Given the description of an element on the screen output the (x, y) to click on. 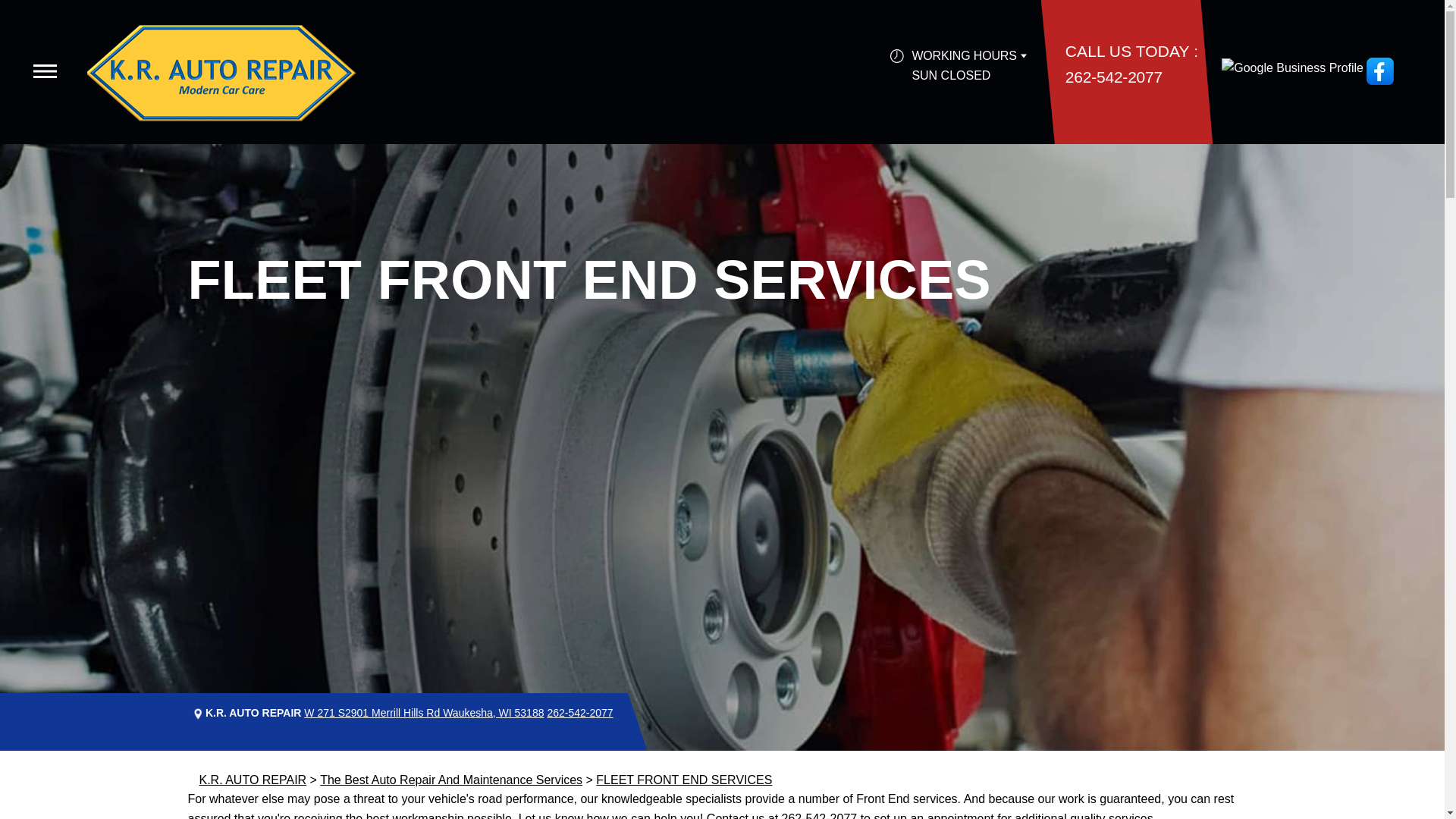
262-542-2077 (579, 712)
262-542-2077 (1113, 76)
W 271 S2901 Merrill Hills Rd Waukesha, WI 53188 (423, 712)
K.R. AUTO REPAIR (251, 779)
262-542-2077 (819, 815)
FLEET FRONT END SERVICES (683, 779)
open-navigation-button (44, 70)
The Best Auto Repair And Maintenance Services (451, 779)
